Given the description of an element on the screen output the (x, y) to click on. 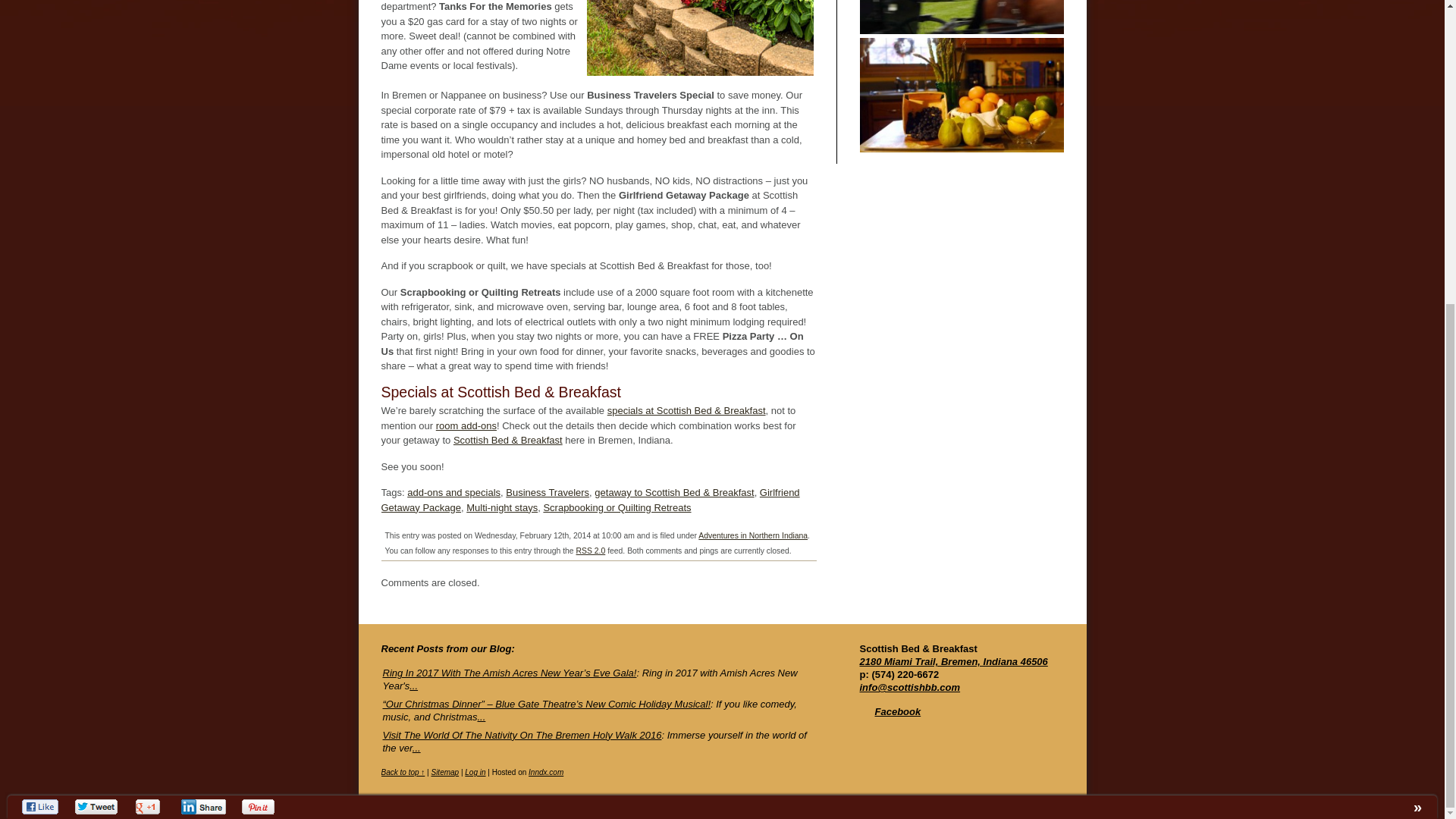
... (480, 716)
Scrapbooking or Quilting Retreats (616, 507)
RSS 2.0 (590, 551)
Sitemap (444, 772)
Girlfriend Getaway Package (589, 499)
Recent Posts from our Blog: (446, 648)
Multi-night stays (501, 507)
Business Travelers (547, 491)
room add-ons (465, 425)
Adventures in Northern Indiana (753, 535)
... (416, 747)
add-ons and specials (453, 491)
Log in (474, 772)
... (413, 685)
Visit The World Of The Nativity On The Bremen Holy Walk 2016 (521, 735)
